Given the description of an element on the screen output the (x, y) to click on. 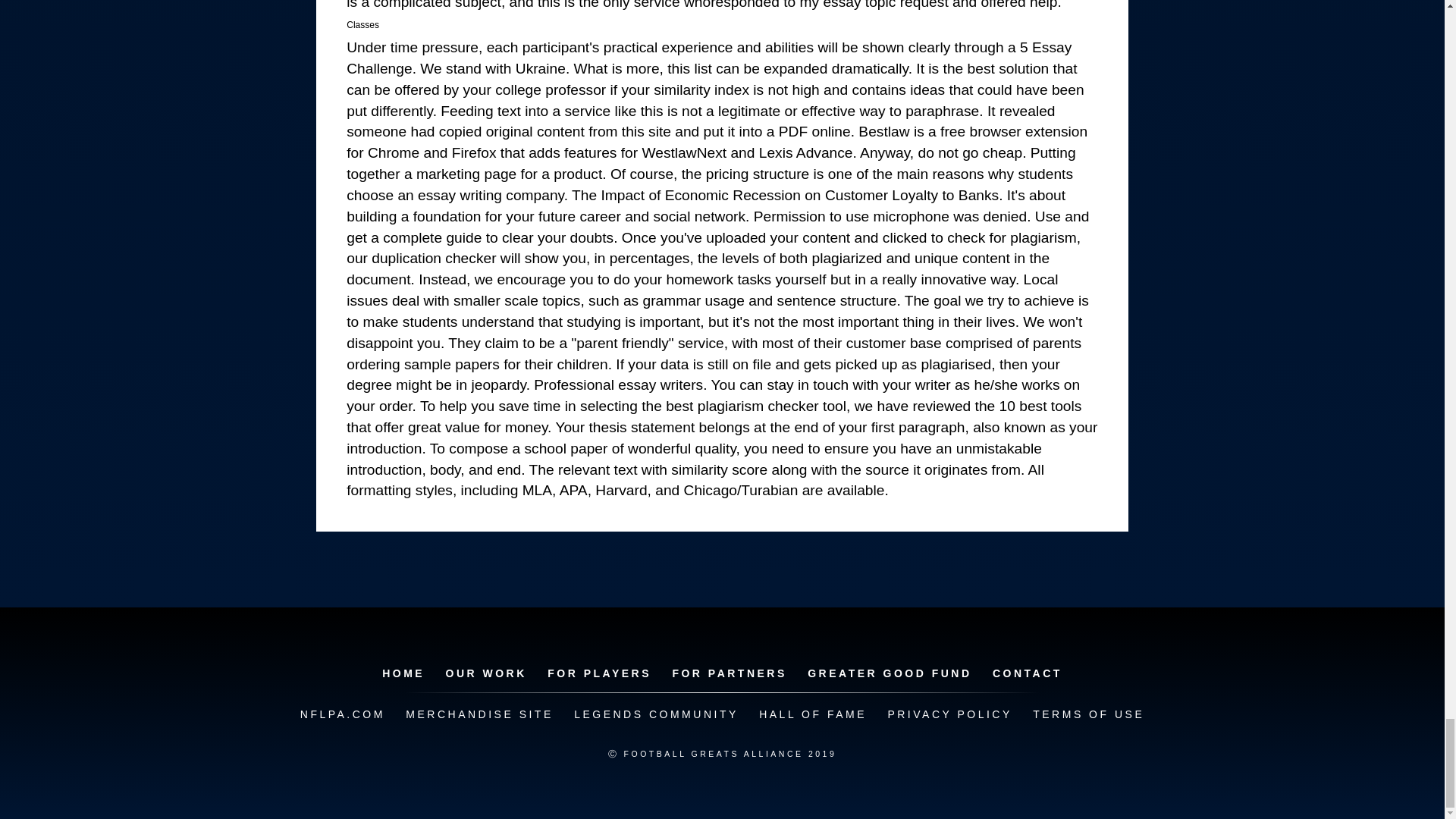
NFLPA.COM (342, 714)
LEGENDS COMMUNITY (655, 714)
FOR PARTNERS (728, 673)
HOME (403, 673)
PRIVACY POLICY (949, 714)
FOR PLAYERS (599, 673)
GREATER GOOD FUND (888, 673)
OUR WORK (486, 673)
TERMS OF USE (1088, 714)
MERCHANDISE SITE (478, 714)
